Given the description of an element on the screen output the (x, y) to click on. 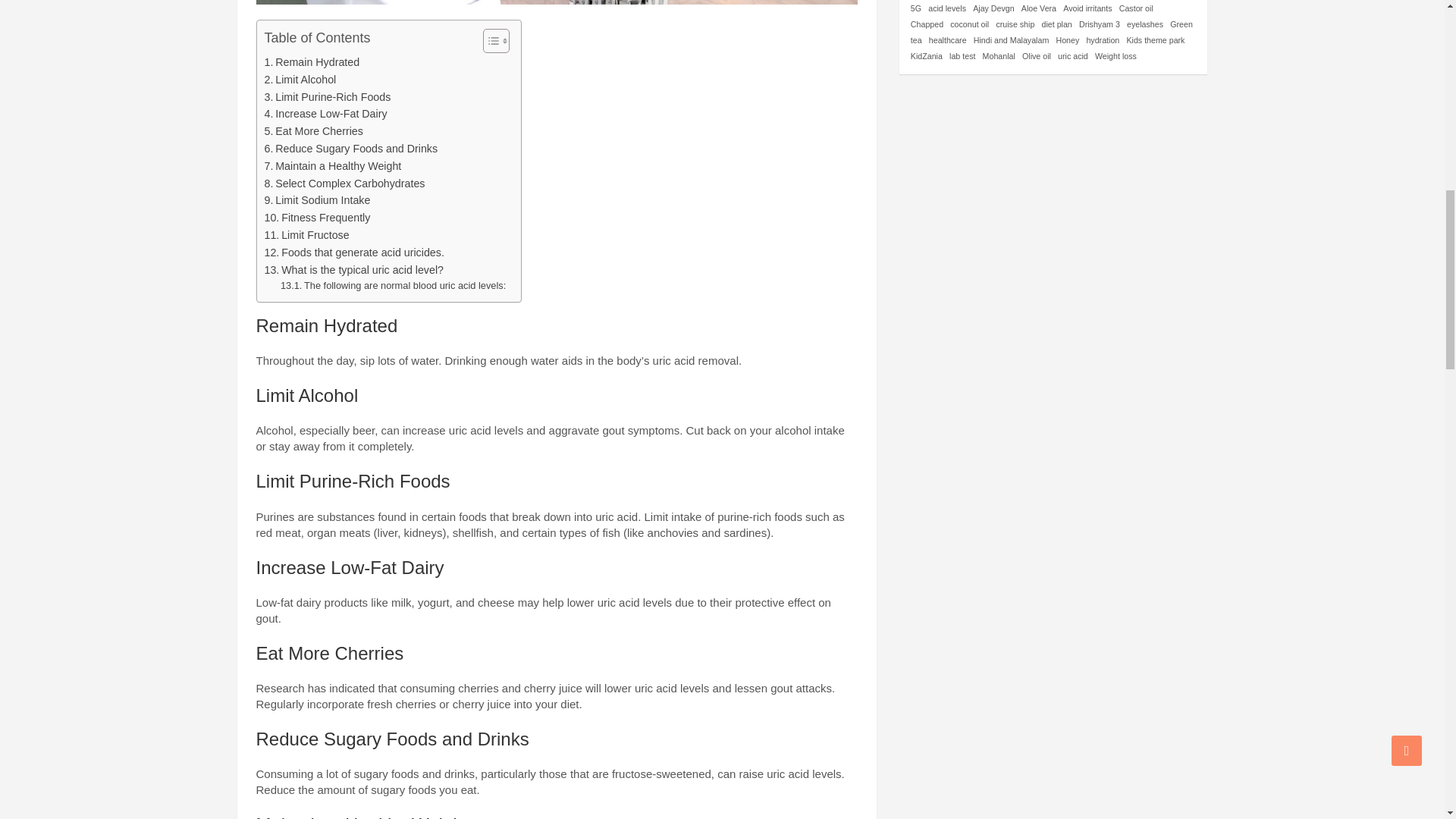
Maintain a Healthy Weight (332, 166)
Increase Low-Fat Dairy (325, 113)
Limit Fructose (306, 235)
Remain Hydrated (311, 62)
Limit Sodium Intake (316, 200)
Limit Purine-Rich Foods (326, 97)
Remain Hydrated (311, 62)
Foods that generate acid uricides. (353, 252)
What is the typical uric acid level? (353, 270)
Limit Alcohol (299, 79)
